Given the description of an element on the screen output the (x, y) to click on. 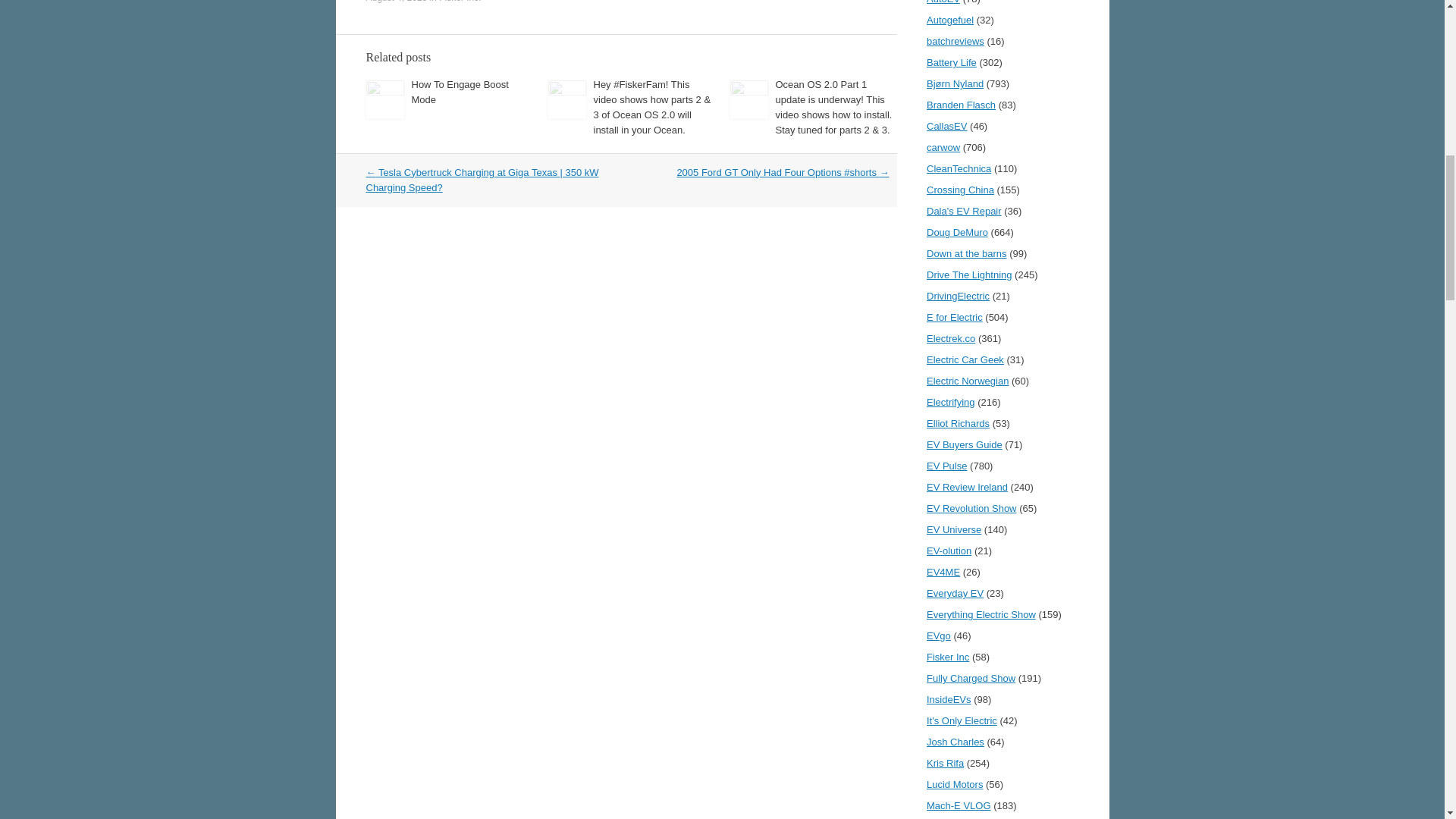
Branden Flasch (960, 104)
Permalink to How To Engage Boost Mode (459, 91)
batchreviews (955, 41)
Autogefuel (950, 19)
carwow (942, 147)
August 4, 2023 (395, 1)
Battery Life (951, 61)
CallasEV (946, 125)
How To Engage Boost Mode (459, 91)
AutoEV (942, 2)
